Given the description of an element on the screen output the (x, y) to click on. 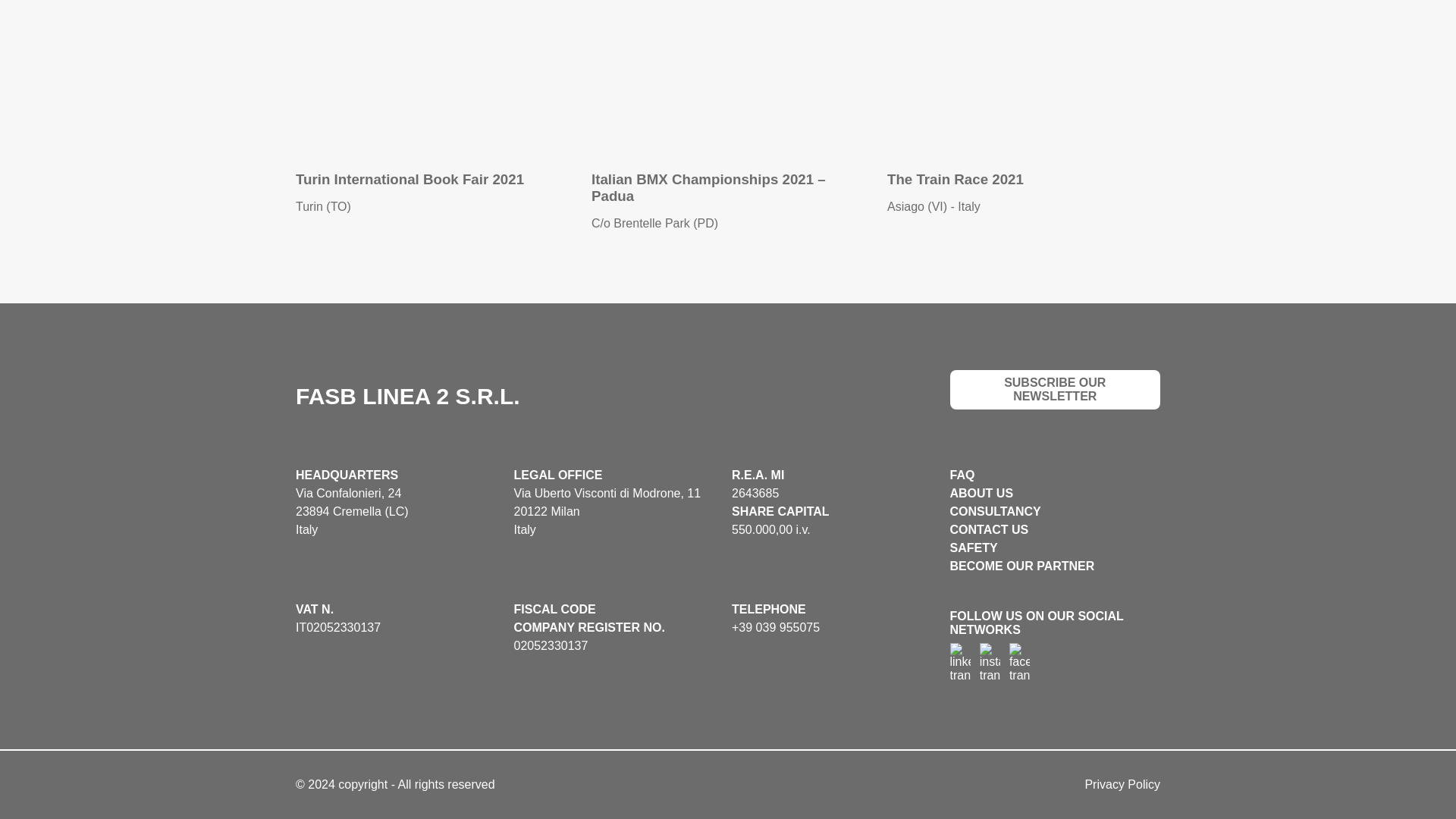
The Train Race 2021 Transenne.net (1023, 76)
Turin International Book Fair 2021 Transenne.net (432, 76)
Privacy Policy  (1122, 784)
